Given the description of an element on the screen output the (x, y) to click on. 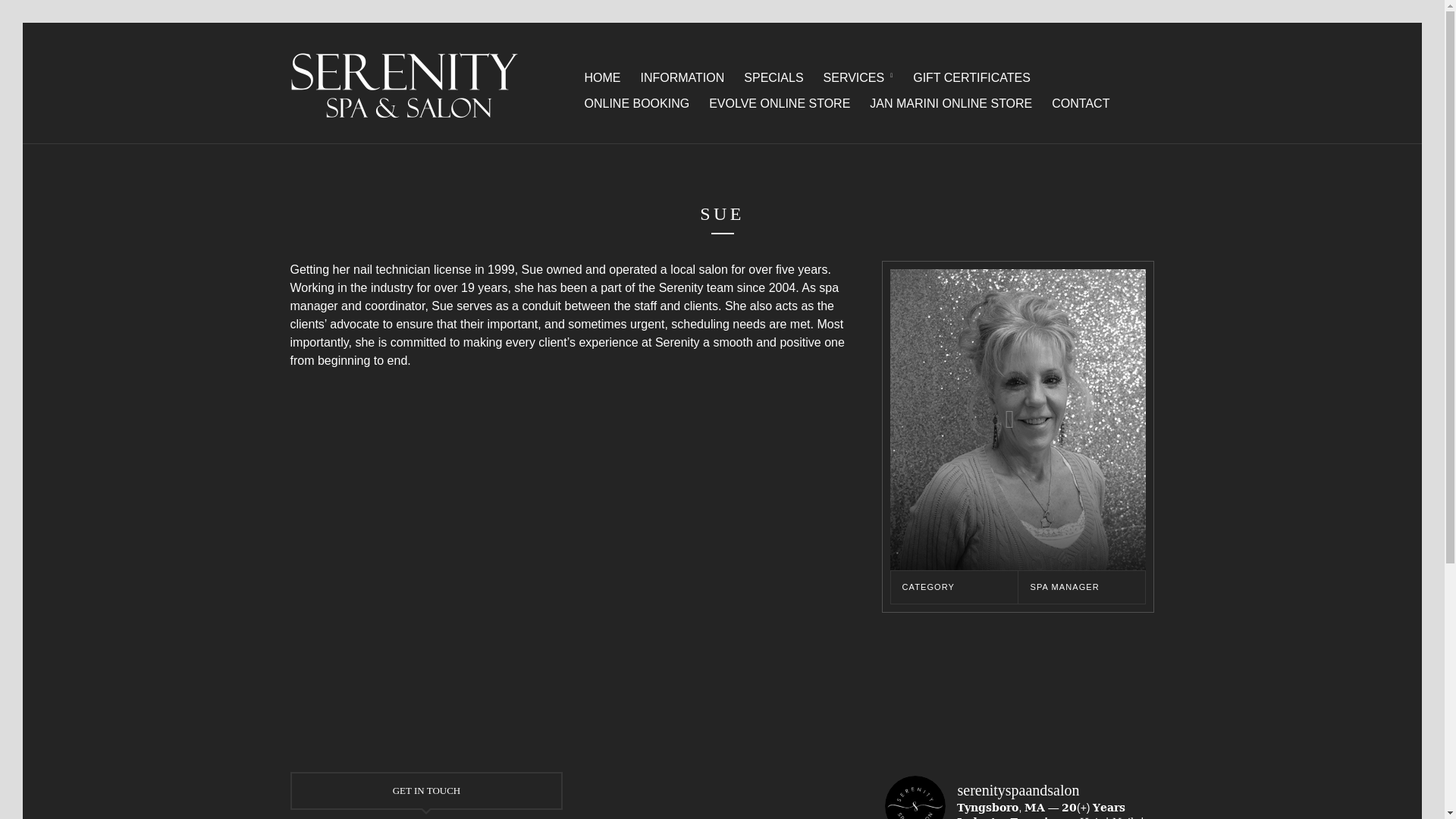
INFORMATION (681, 78)
SPECIALS (773, 78)
HOME (601, 78)
SERVICES (858, 78)
